Given the description of an element on the screen output the (x, y) to click on. 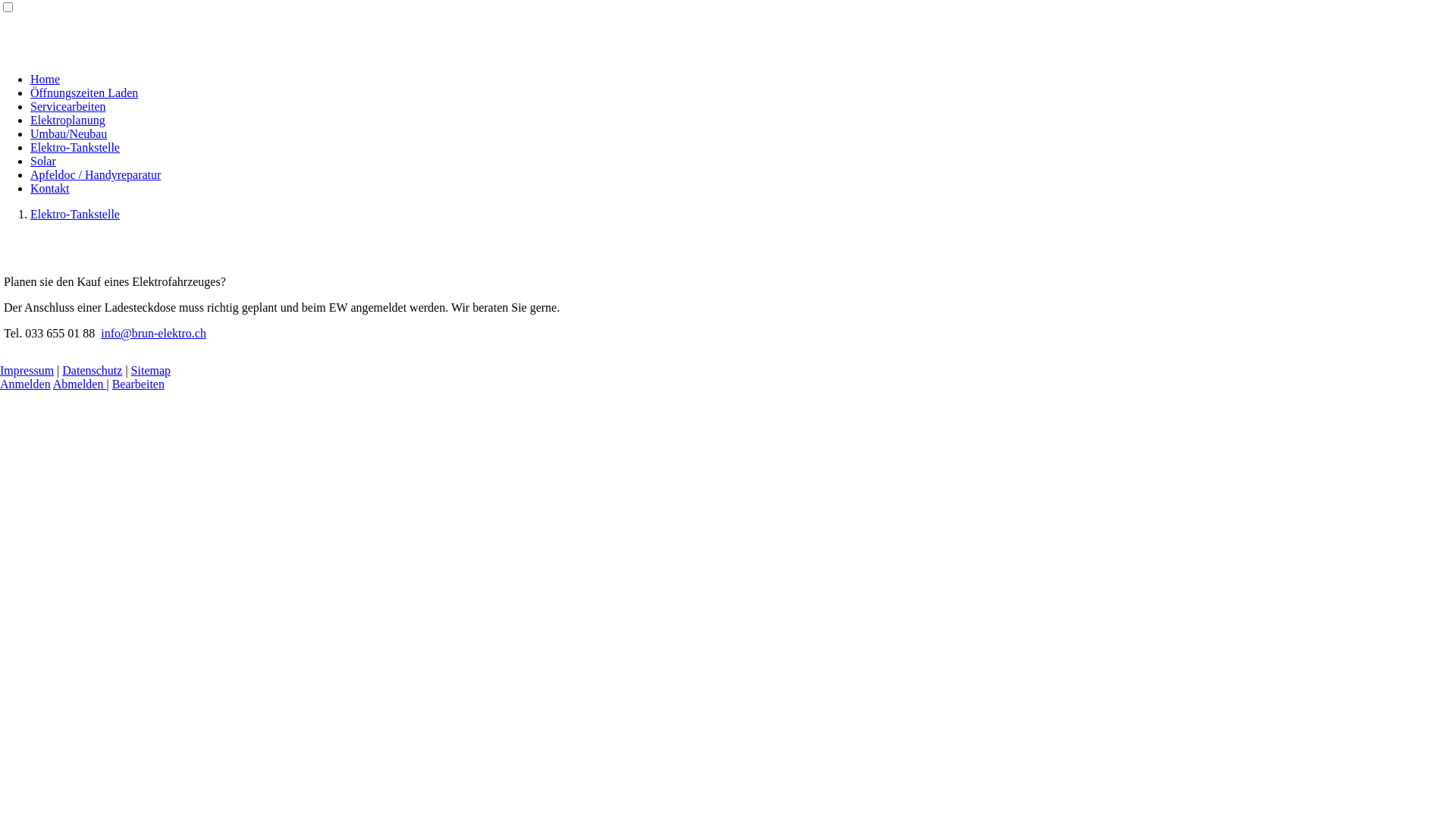
Apfeldoc / Handyreparatur Element type: text (95, 174)
info@brun-elektro.ch Element type: text (153, 332)
Elektro-Tankstelle Element type: text (74, 213)
Elektroplanung Element type: text (67, 119)
Servicearbeiten Element type: text (68, 106)
Solar Element type: text (43, 160)
Kontakt Element type: text (49, 188)
Abmelden Element type: text (79, 383)
Impressum Element type: text (26, 370)
Datenschutz Element type: text (92, 370)
Umbau/Neubau Element type: text (68, 133)
Home Element type: text (44, 78)
Sitemap Element type: text (150, 370)
Elektro-Tankstelle Element type: text (74, 147)
Anmelden Element type: text (25, 383)
Bearbeiten Element type: text (138, 383)
